Given the description of an element on the screen output the (x, y) to click on. 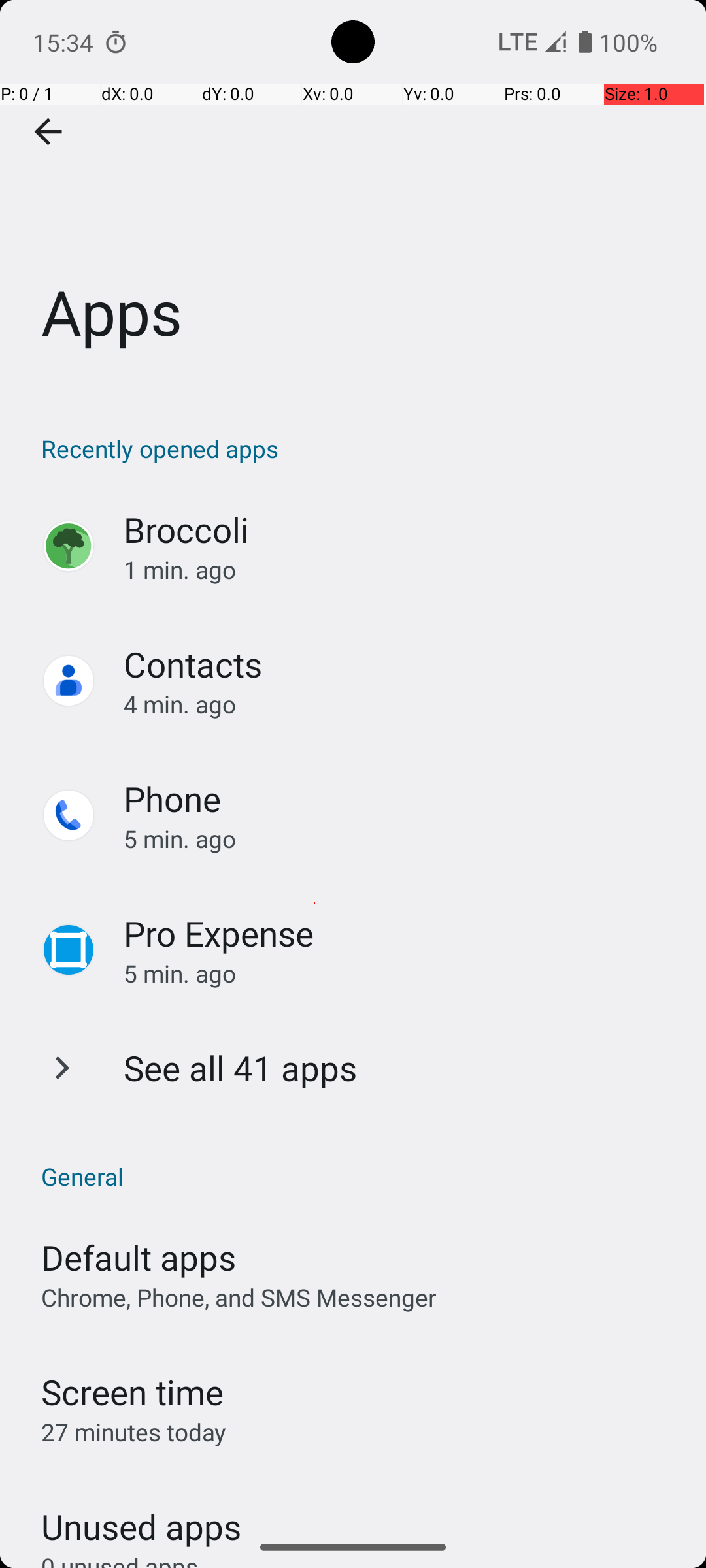
1 min. ago Element type: android.widget.TextView (400, 569)
4 min. ago Element type: android.widget.TextView (400, 703)
5 min. ago Element type: android.widget.TextView (400, 838)
27 minutes today Element type: android.widget.TextView (133, 1431)
